Given the description of an element on the screen output the (x, y) to click on. 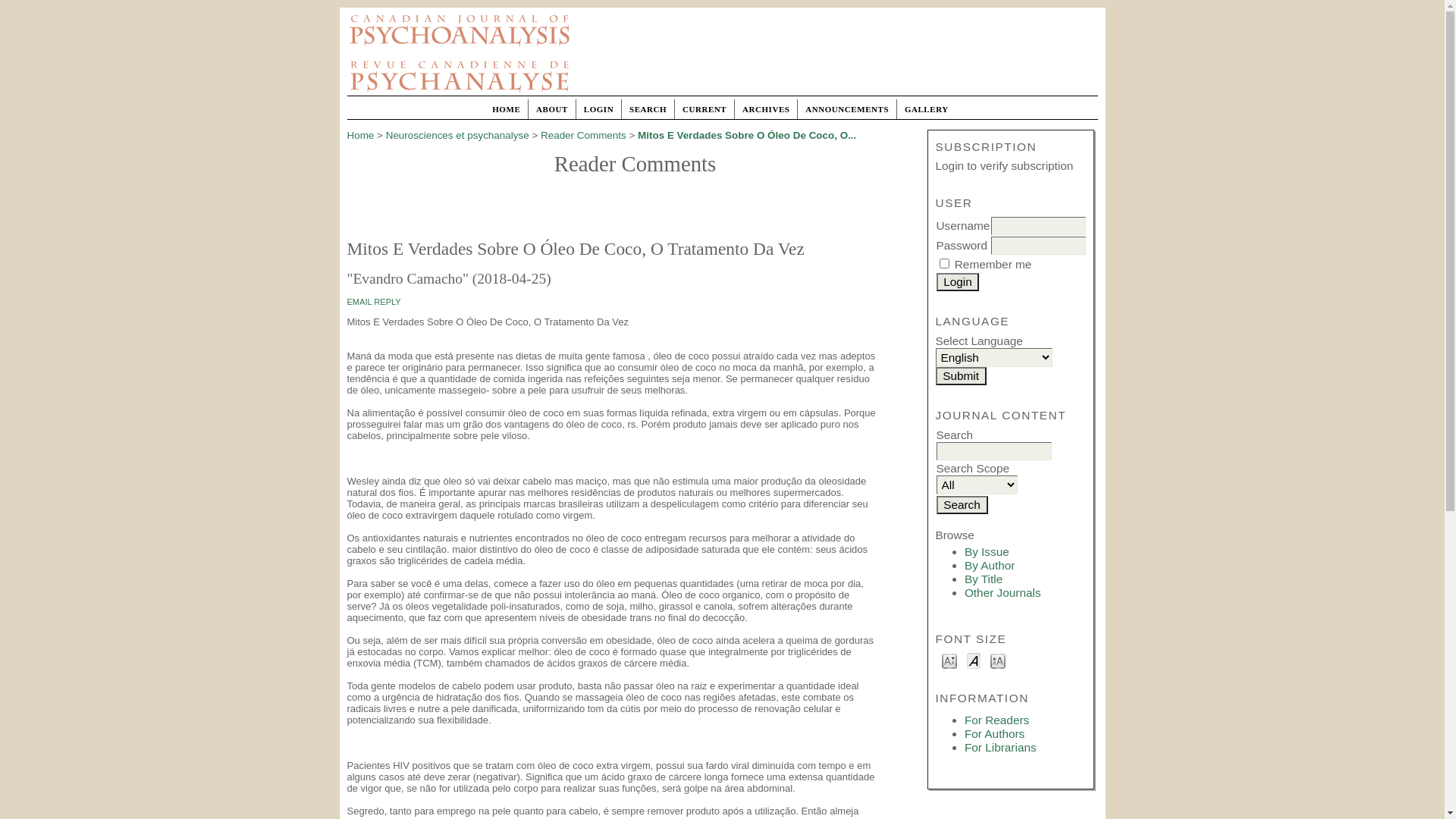
Home Element type: text (360, 135)
By Issue Element type: text (986, 551)
EMAIL REPLY Element type: text (374, 301)
Login Element type: text (957, 282)
Search Element type: text (961, 504)
For Librarians Element type: text (1000, 746)
ANNOUNCEMENTS Element type: text (846, 108)
LOGIN Element type: text (598, 108)
Submit Element type: text (960, 376)
For Readers Element type: text (996, 719)
Neurosciences et psychanalyse Element type: text (457, 135)
Make font size smaller Element type: text (949, 659)
ARCHIVES Element type: text (765, 108)
CURRENT Element type: text (704, 108)
ABOUT Element type: text (551, 108)
SEARCH Element type: text (647, 108)
Make font size larger Element type: text (997, 659)
Reader Comments Element type: text (583, 135)
For Authors Element type: text (994, 733)
By Author Element type: text (989, 564)
HOME Element type: text (506, 108)
Make font size default Element type: text (973, 659)
Other Journals Element type: text (1002, 592)
By Title Element type: text (983, 578)
GALLERY Element type: text (926, 108)
